Given the description of an element on the screen output the (x, y) to click on. 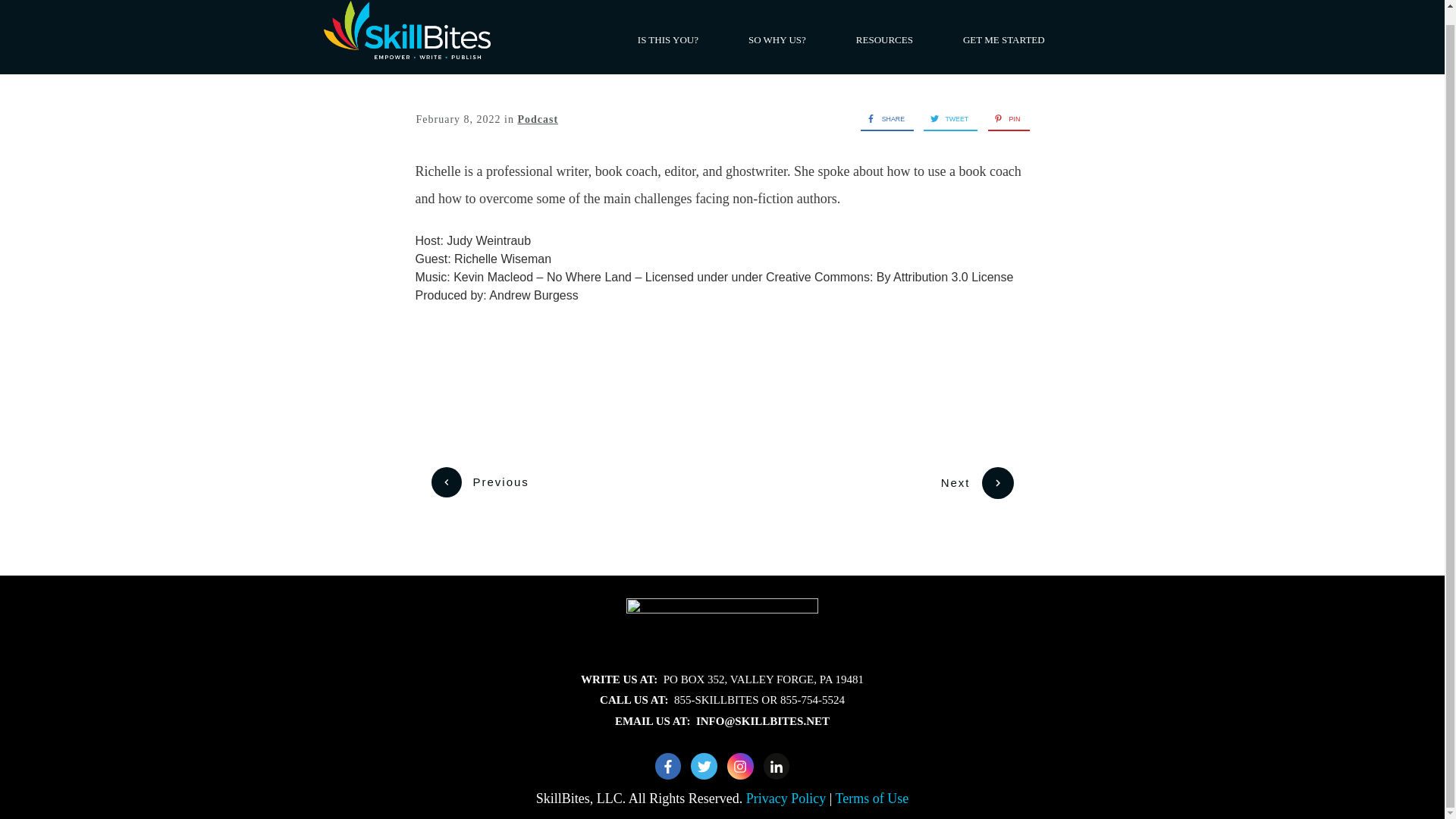
SHARE (882, 118)
Episode 54: Richelle Wiseman (721, 361)
Next (976, 482)
GET ME STARTED (1003, 39)
Terms of Use (871, 798)
PIN (1004, 118)
Previous (479, 481)
Podcast (536, 119)
SO WHY US? (777, 39)
TWEET (945, 118)
Podcast (536, 119)
logo (722, 631)
RESOURCES (884, 39)
IS THIS YOU? (667, 39)
Privacy Policy  (787, 798)
